Given the description of an element on the screen output the (x, y) to click on. 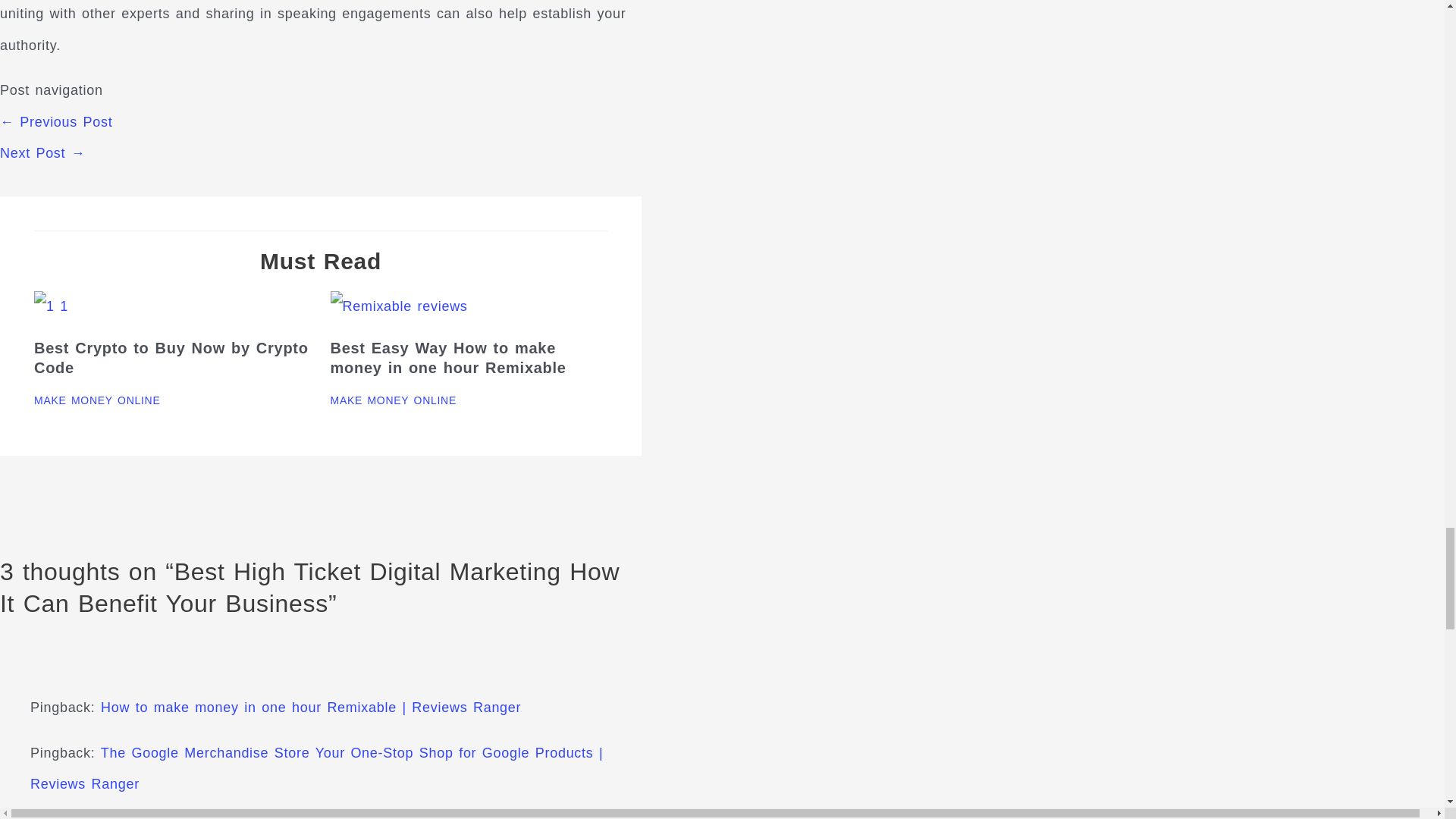
Quad Air Drones Review to the Ultimate Guide (42, 152)
